Given the description of an element on the screen output the (x, y) to click on. 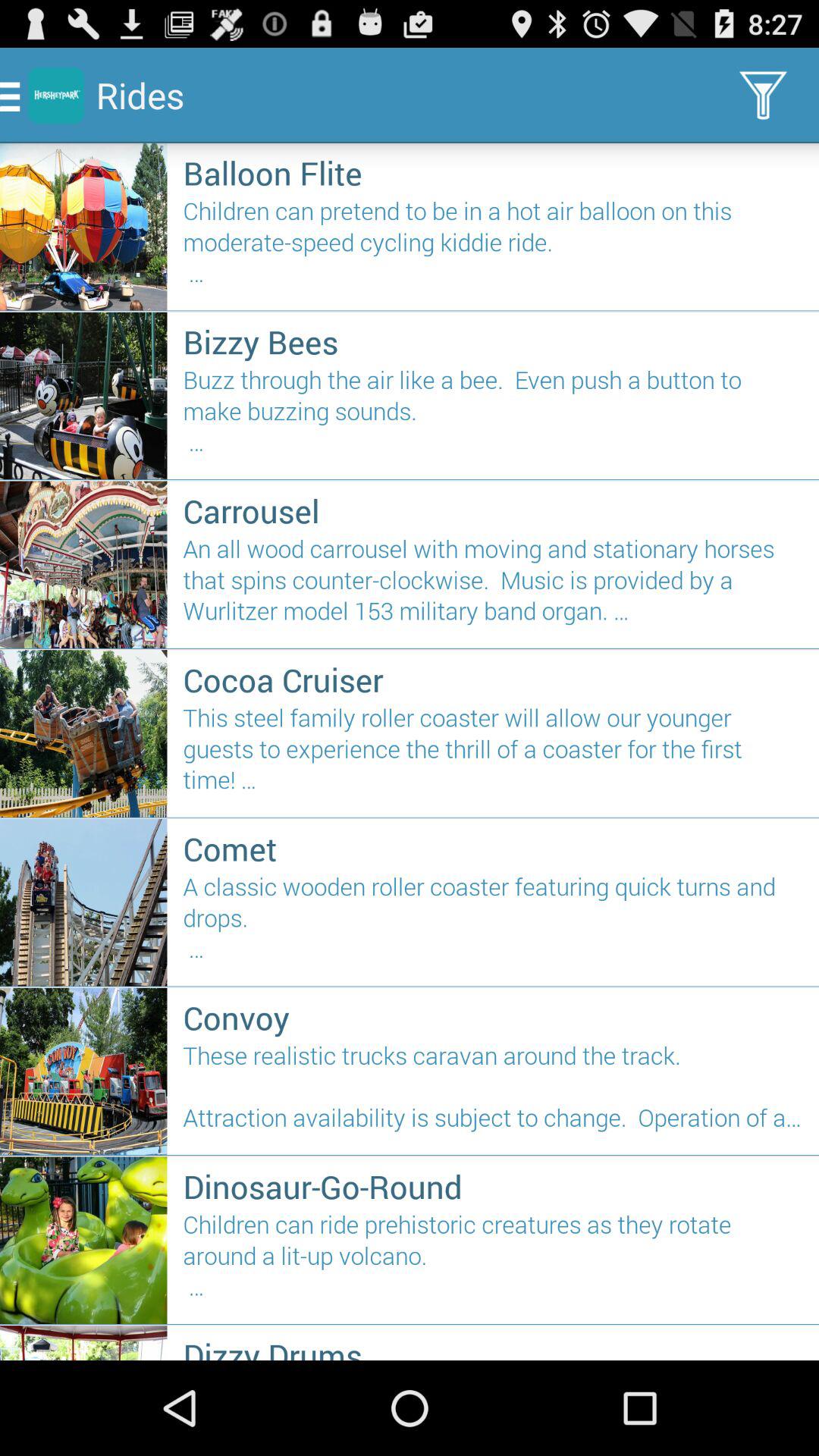
click on filter icon (763, 95)
